Given the description of an element on the screen output the (x, y) to click on. 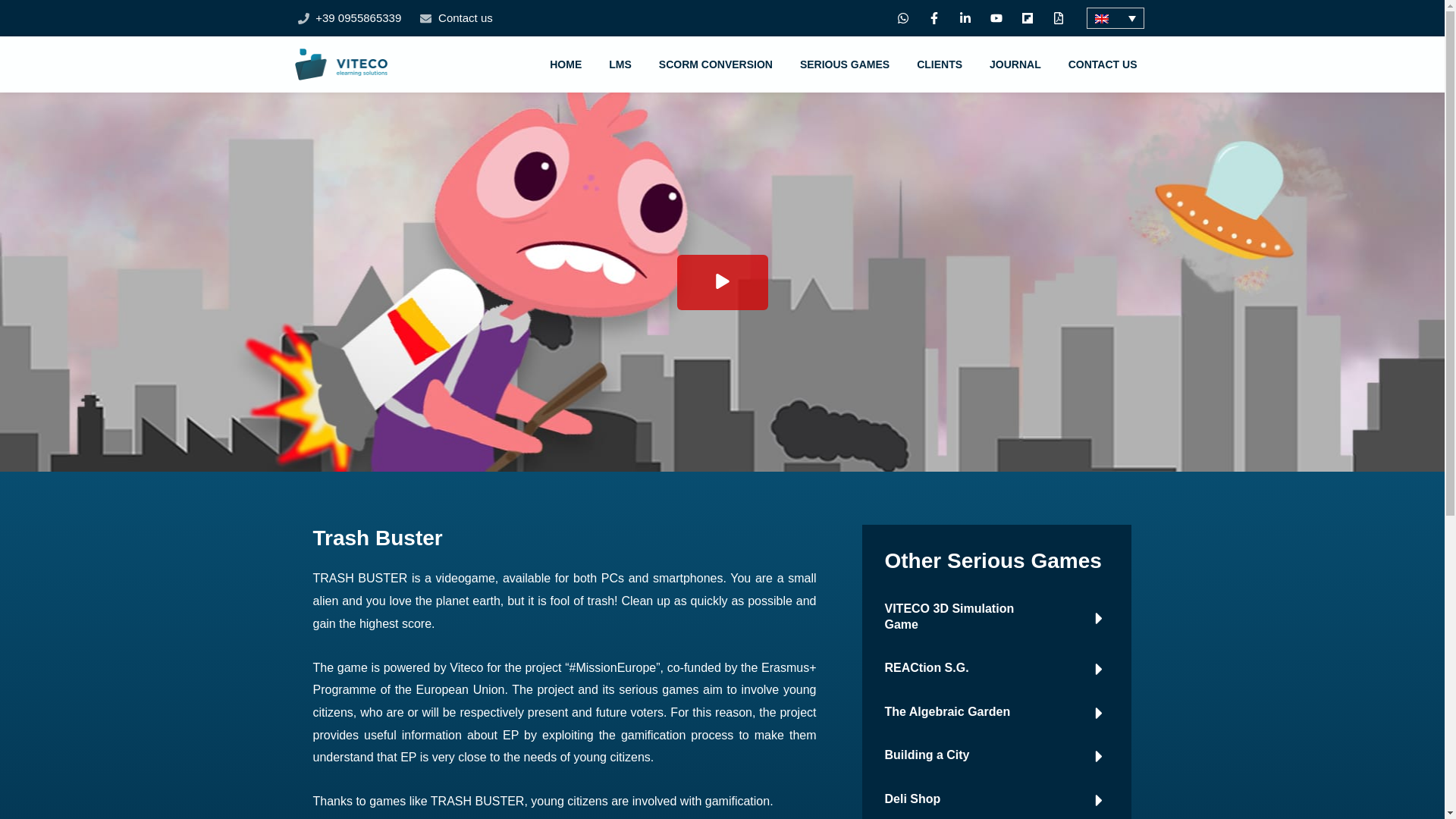
CONTACT US (1102, 63)
REACtion S.G. (925, 667)
HOME (565, 63)
SERIOUS GAMES (844, 63)
SCORM CONVERSION (715, 63)
LMS (620, 63)
VITECO 3D Simulation Game (948, 615)
Contact us (456, 17)
CLIENTS (938, 63)
JOURNAL (1014, 63)
